Given the description of an element on the screen output the (x, y) to click on. 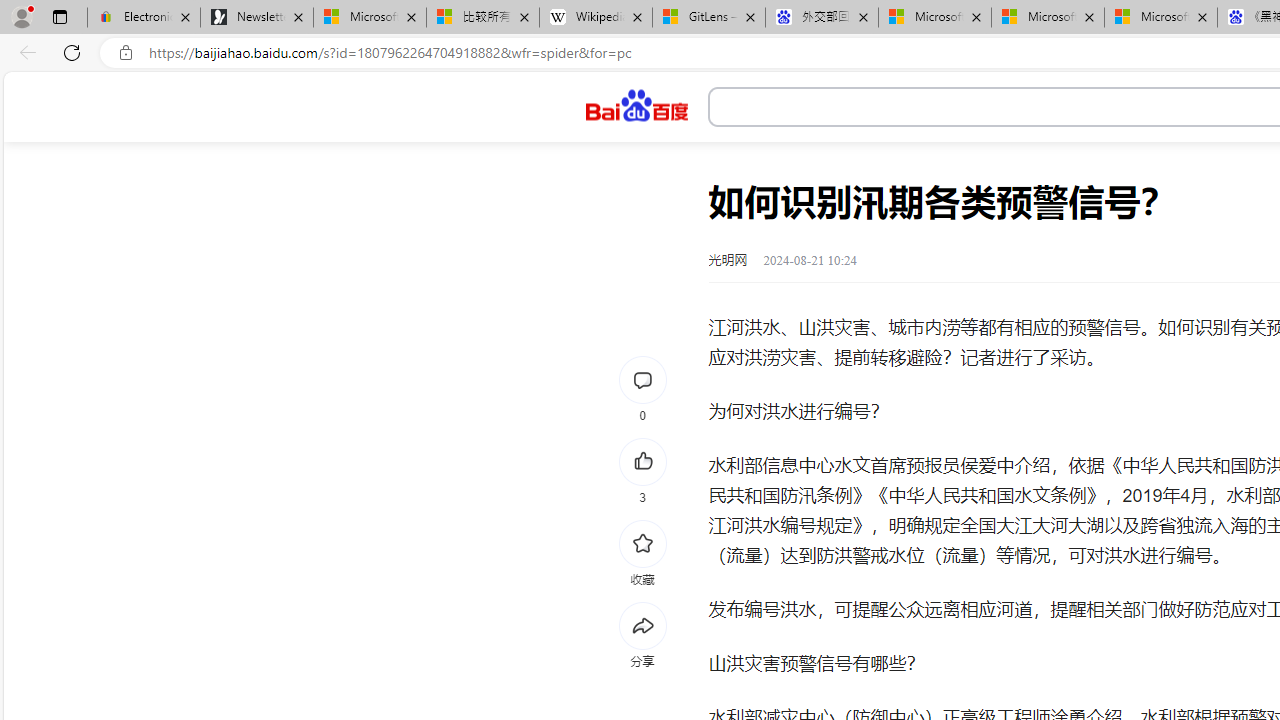
Electronics, Cars, Fashion, Collectibles & More | eBay (143, 17)
Newsletter Sign Up (257, 17)
